Given the description of an element on the screen output the (x, y) to click on. 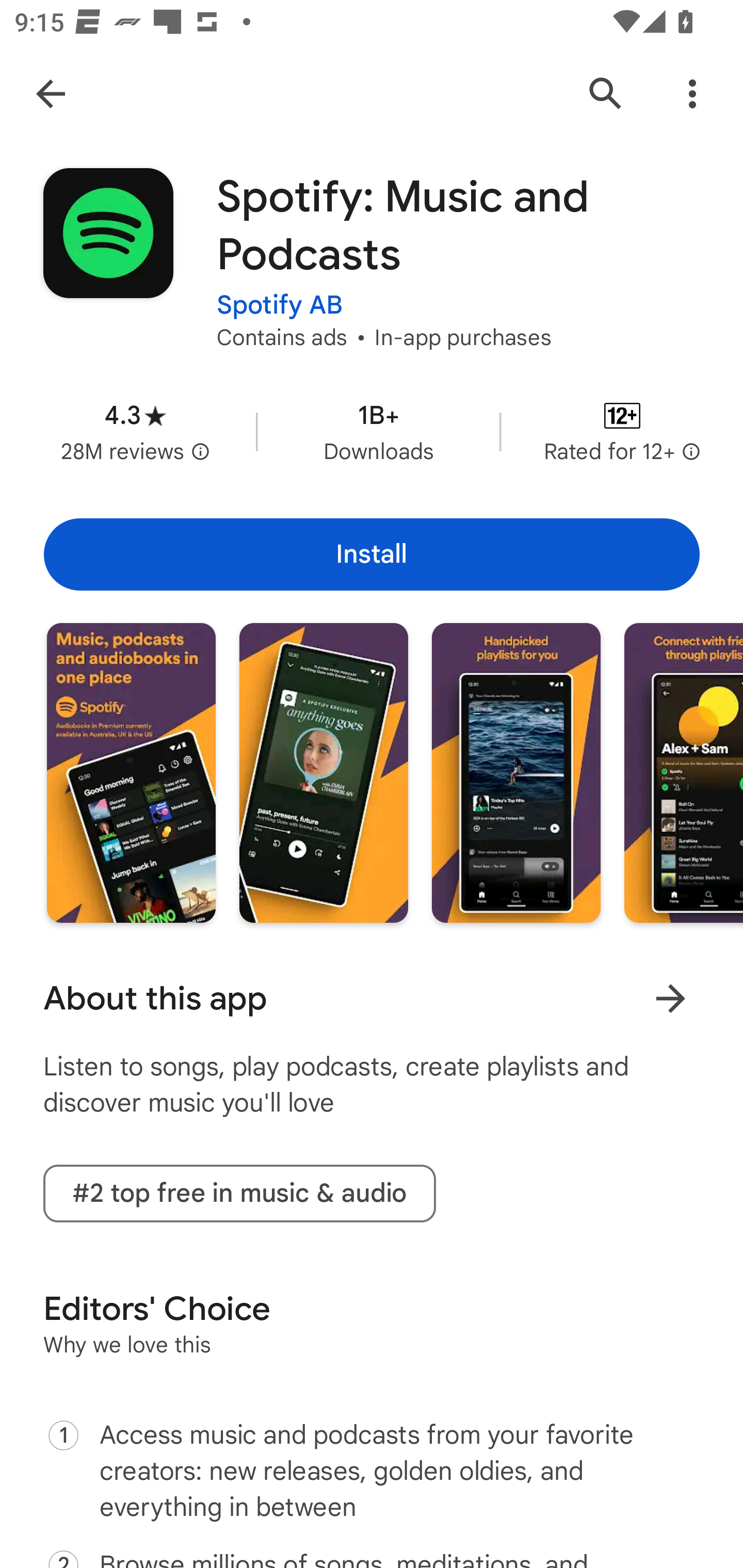
Navigate up (50, 93)
Search Google Play (605, 93)
More Options (692, 93)
Spotify AB (279, 292)
Average rating 4.3 stars in 28 million reviews (135, 431)
Content rating Rated for 12+ (622, 431)
Install (371, 554)
Screenshot "1" of "8" (130, 771)
Screenshot "2" of "8" (323, 771)
Screenshot "3" of "8" (515, 771)
Screenshot "4" of "8" (683, 771)
About this app Learn more About this app (371, 998)
Learn more About this app (670, 997)
#2 top free in music & audio tag (239, 1193)
